Given the description of an element on the screen output the (x, y) to click on. 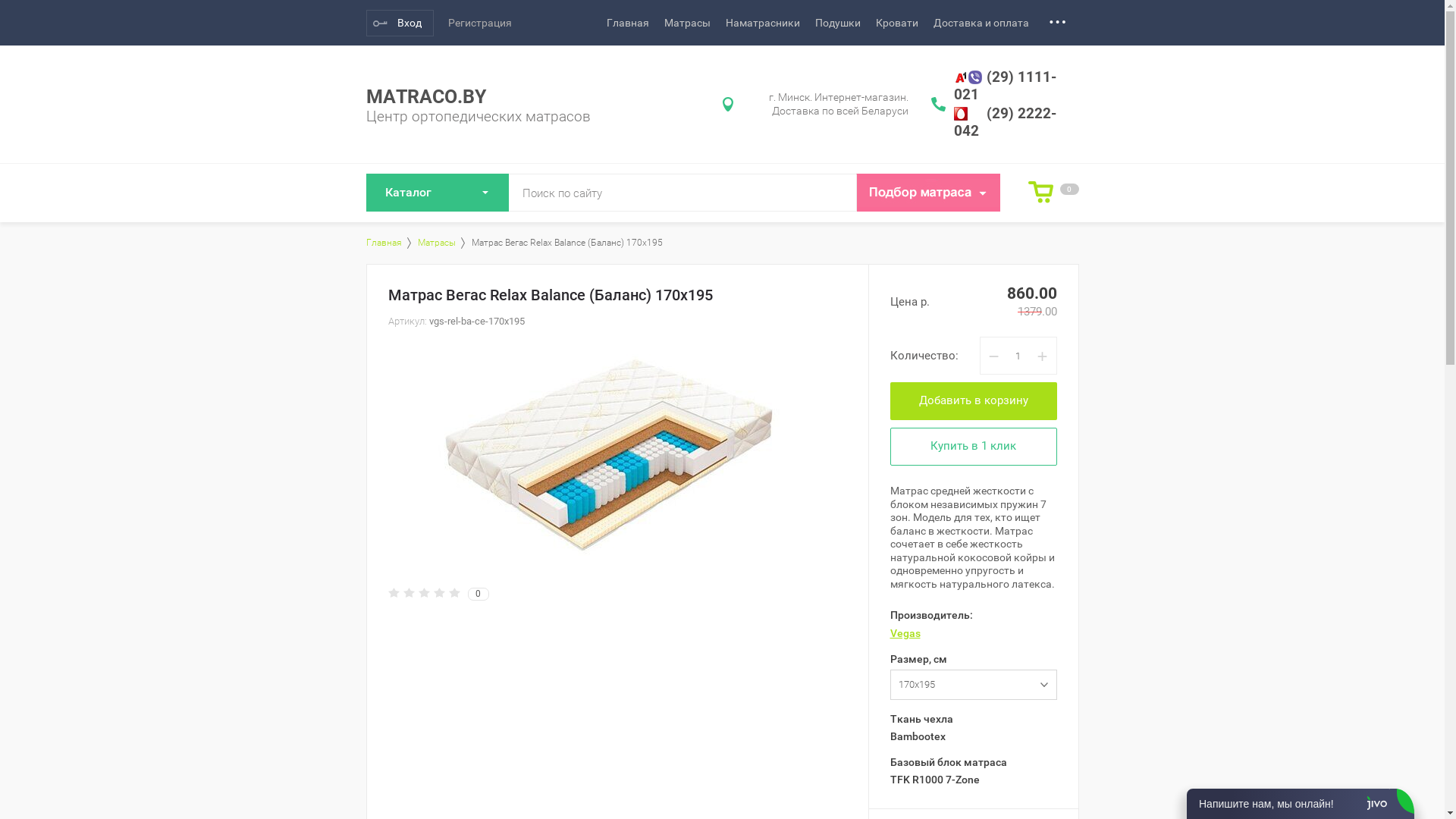
MATRACO.BY Element type: text (425, 96)
Vegas Element type: text (905, 632)
(29) 2222-042 Element type: text (1004, 122)
+ Element type: text (1041, 355)
(29) 1111-021 Element type: text (1004, 86)
